Given the description of an element on the screen output the (x, y) to click on. 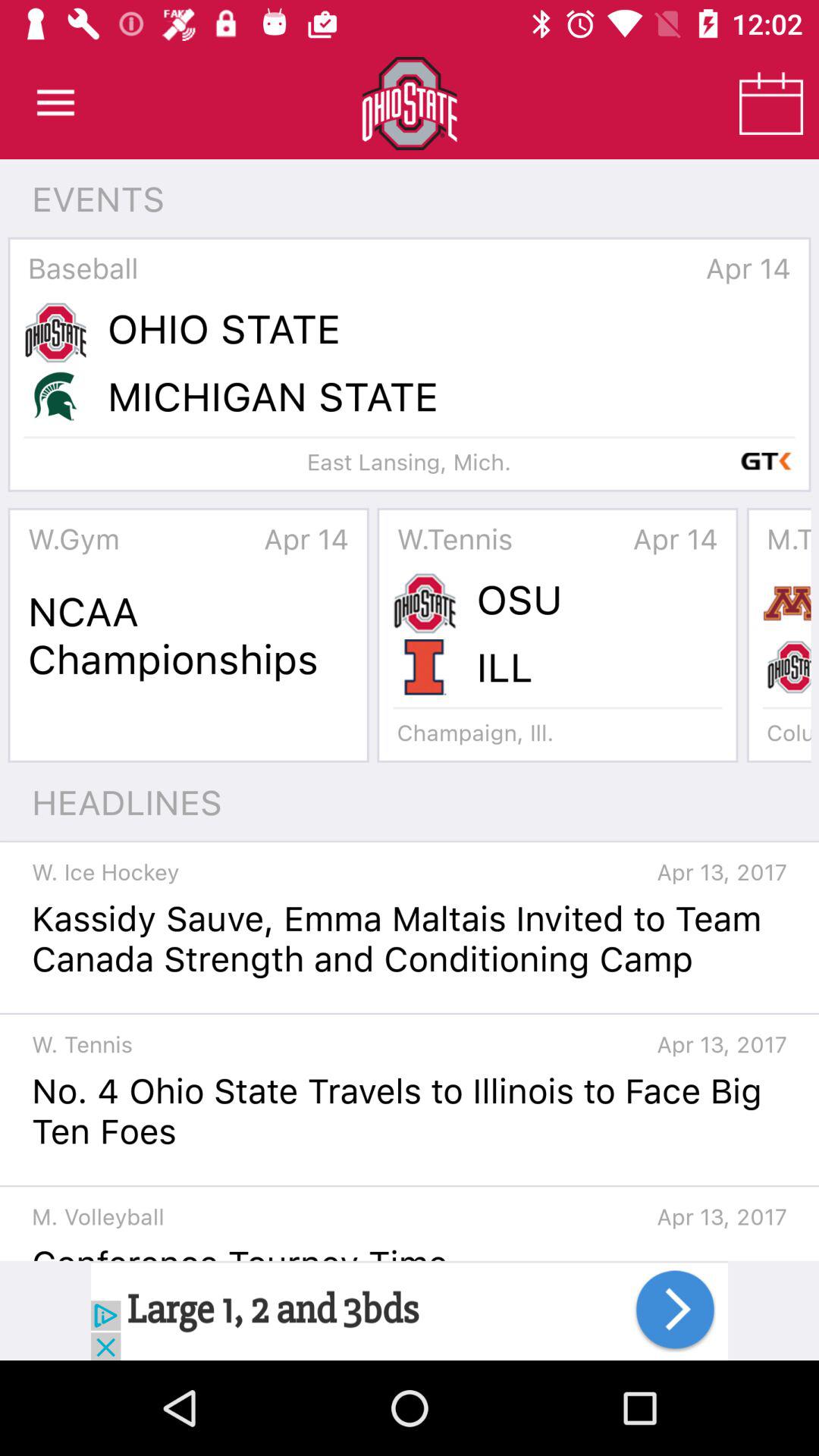
hamburger menu icon (55, 103)
